Given the description of an element on the screen output the (x, y) to click on. 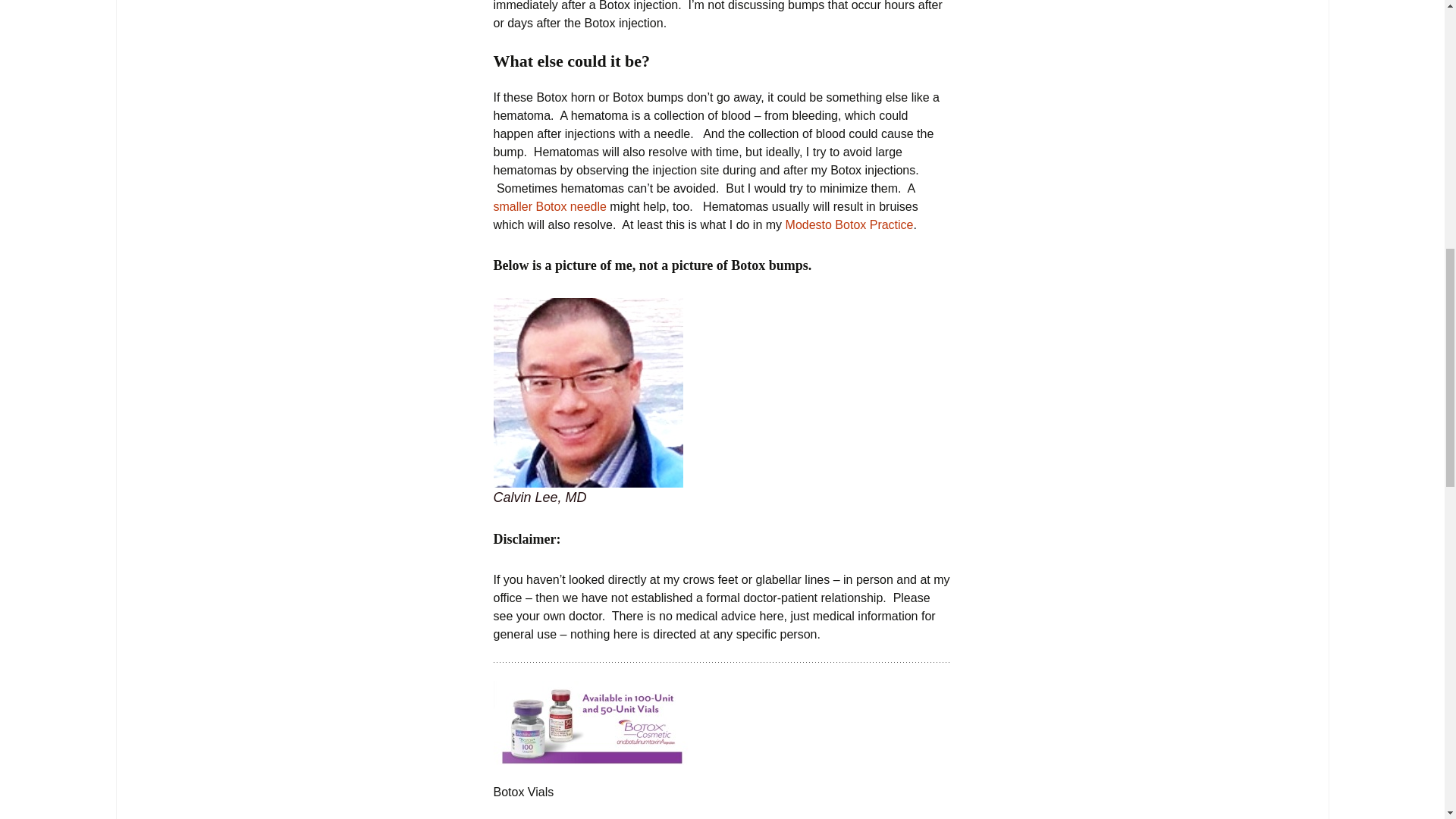
smaller Botox needle (549, 205)
